Given the description of an element on the screen output the (x, y) to click on. 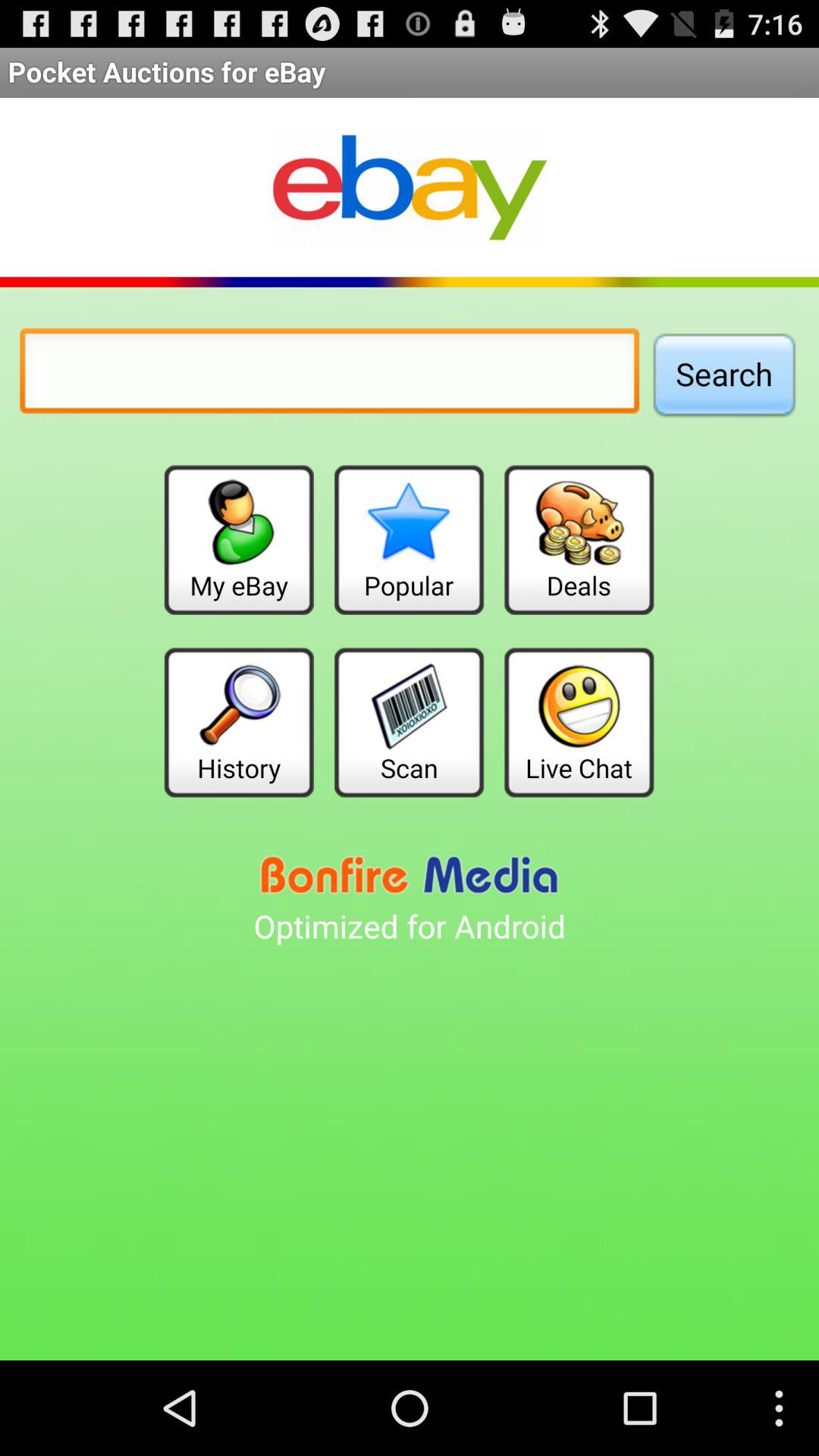
turn on the button below deals (579, 722)
